Given the description of an element on the screen output the (x, y) to click on. 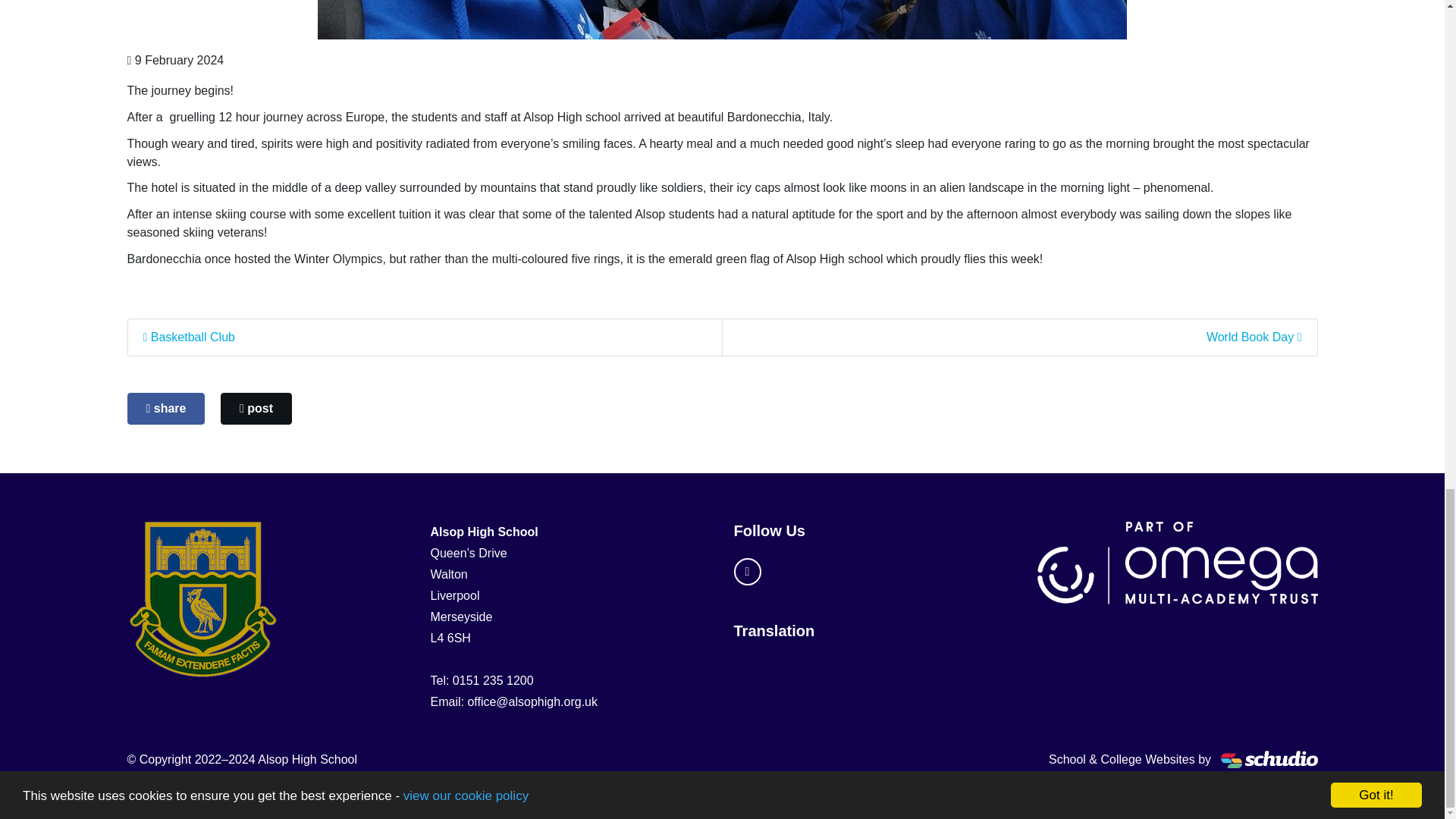
X (747, 571)
Share on Facebook (166, 409)
Post on X (256, 409)
